Given the description of an element on the screen output the (x, y) to click on. 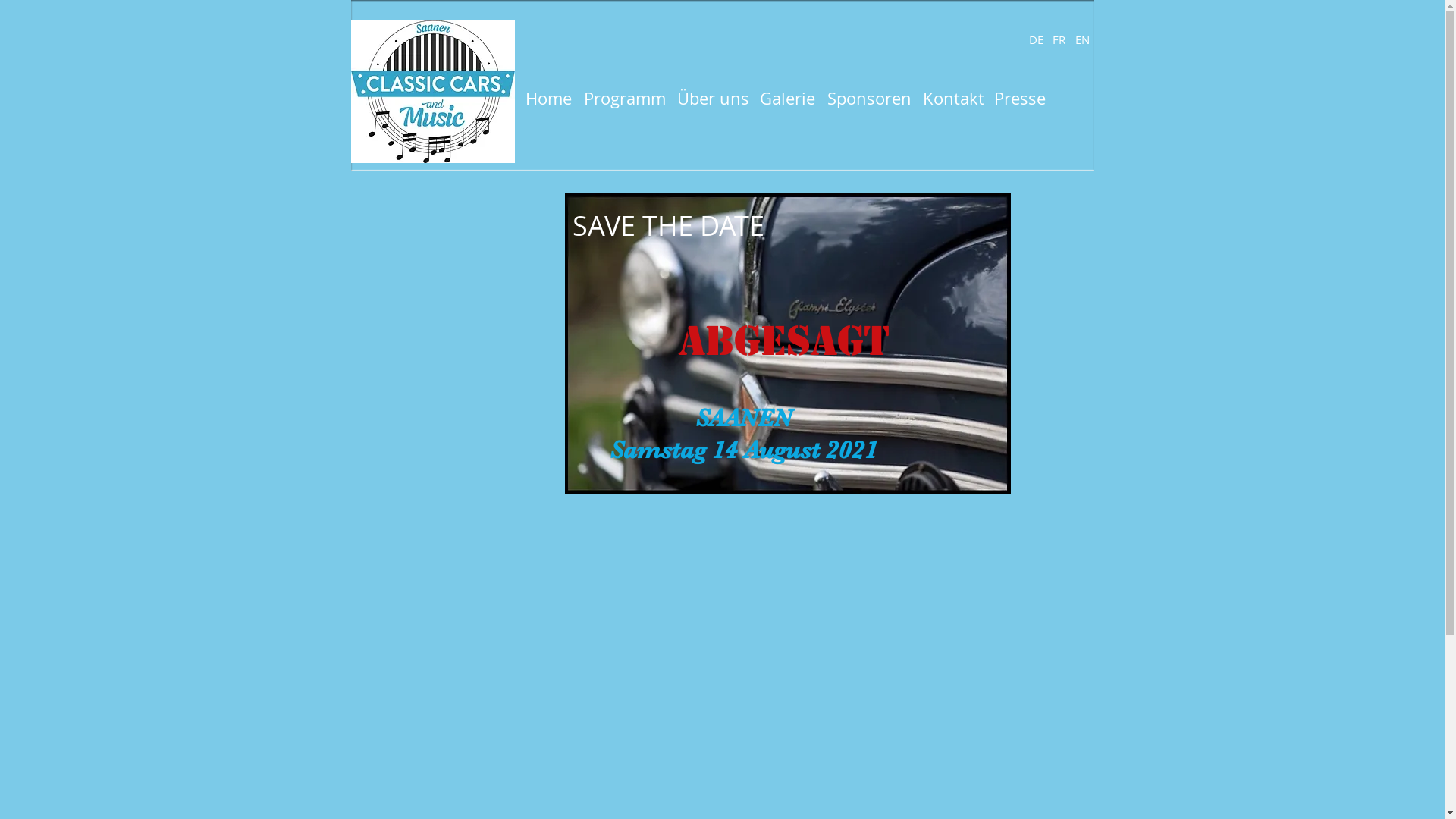
Presse Element type: text (1019, 98)
DE Element type: text (1036, 39)
FR Element type: text (1059, 39)
EN Element type: text (1081, 39)
Programm Element type: text (624, 98)
Home Element type: text (547, 98)
Sponsoren Element type: text (868, 98)
Kontakt Element type: text (952, 98)
Galerie Element type: text (787, 98)
